Given the description of an element on the screen output the (x, y) to click on. 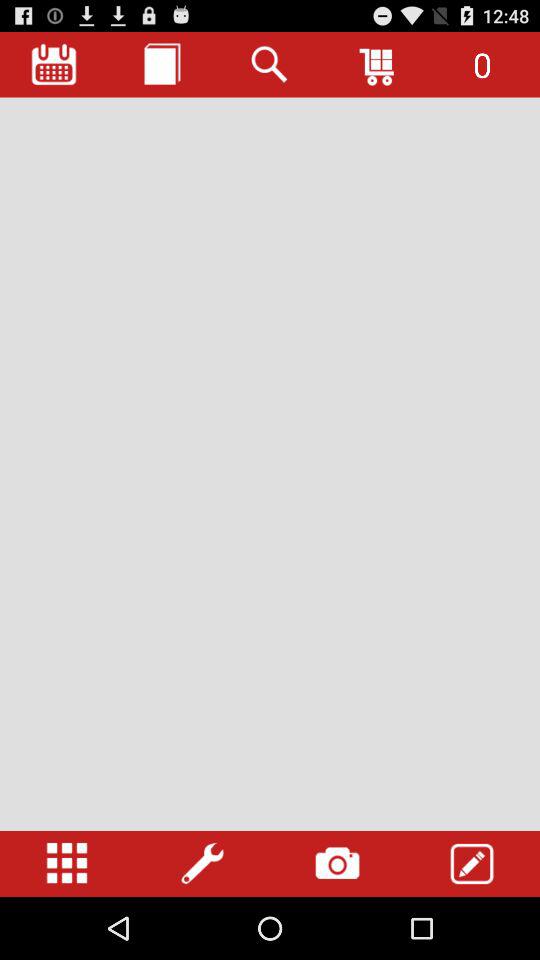
edit (472, 863)
